Given the description of an element on the screen output the (x, y) to click on. 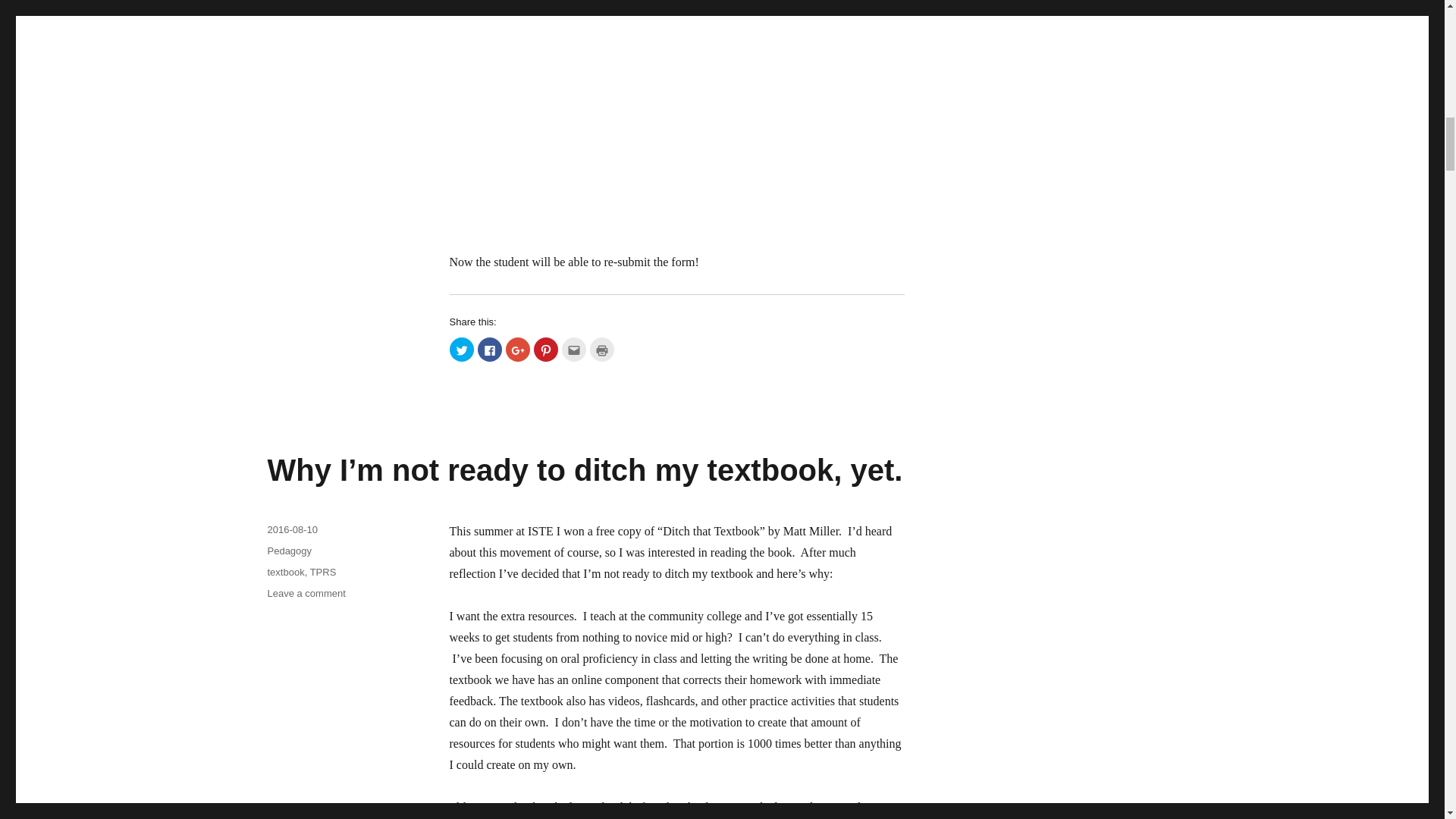
TPRS (323, 572)
Click to share on Twitter (460, 349)
Click to share on Facebook (489, 349)
Click to share on Pinterest (545, 349)
Click to print (601, 349)
Click to email this to a friend (572, 349)
textbook (285, 572)
Pedagogy (288, 550)
2016-08-10 (291, 529)
